Given the description of an element on the screen output the (x, y) to click on. 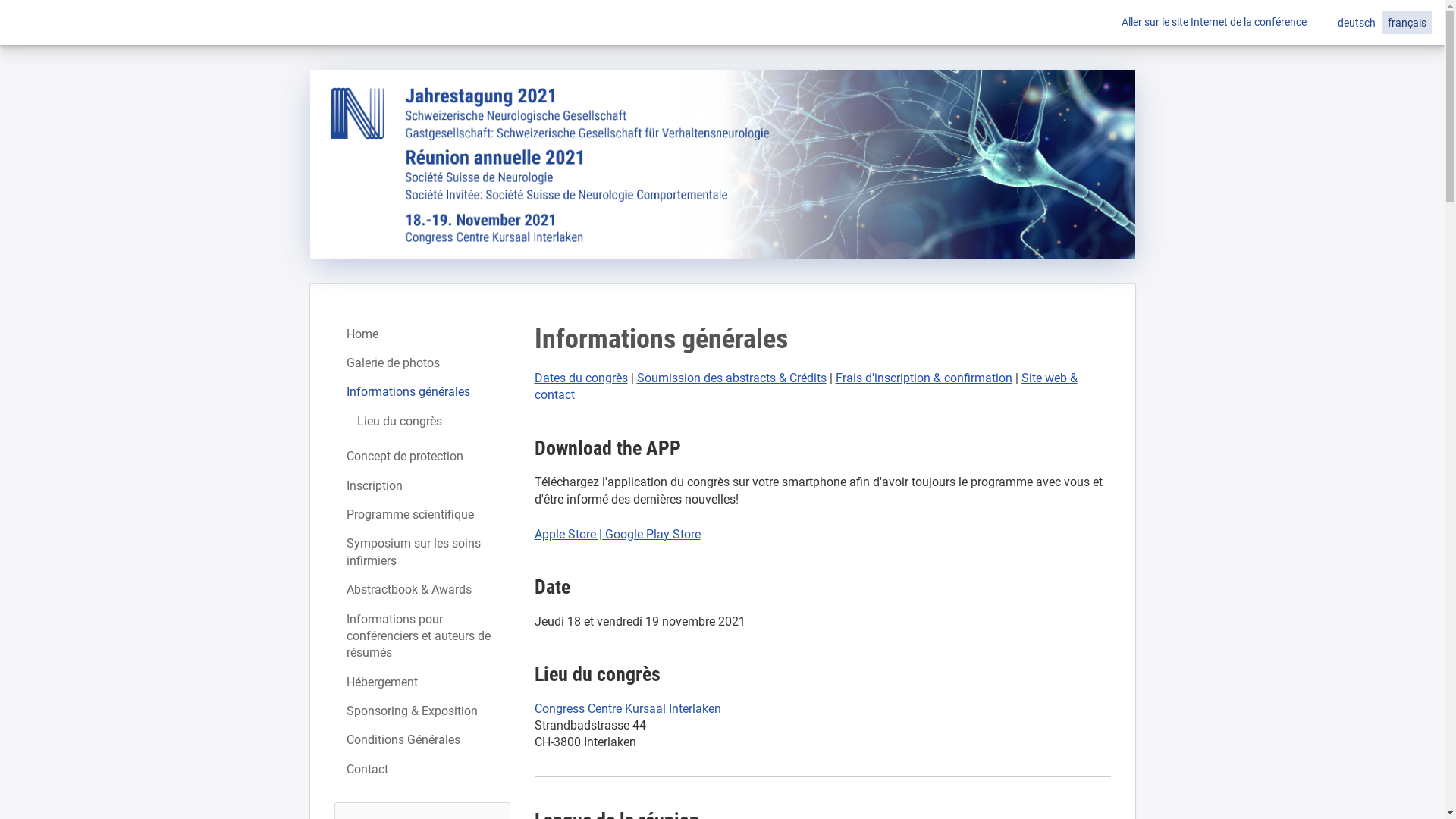
Contact Element type: text (421, 769)
Inscription Element type: text (421, 485)
Programme scientifique Element type: text (421, 514)
Congress Centre Kursaal Interlaken Element type: text (626, 707)
Site web & contact Element type: text (804, 385)
Sponsoring & Exposition Element type: text (421, 710)
Abstractbook & Awards Element type: text (421, 589)
Concept de protection Element type: text (421, 456)
Apple Store | Google Play Store Element type: text (616, 534)
Symposium sur les soins infirmiers Element type: text (421, 552)
deutsch Element type: text (1356, 22)
Frais d'inscription & confirmation Element type: text (923, 377)
Home Element type: text (421, 334)
Galerie de photos Element type: text (421, 362)
